Given the description of an element on the screen output the (x, y) to click on. 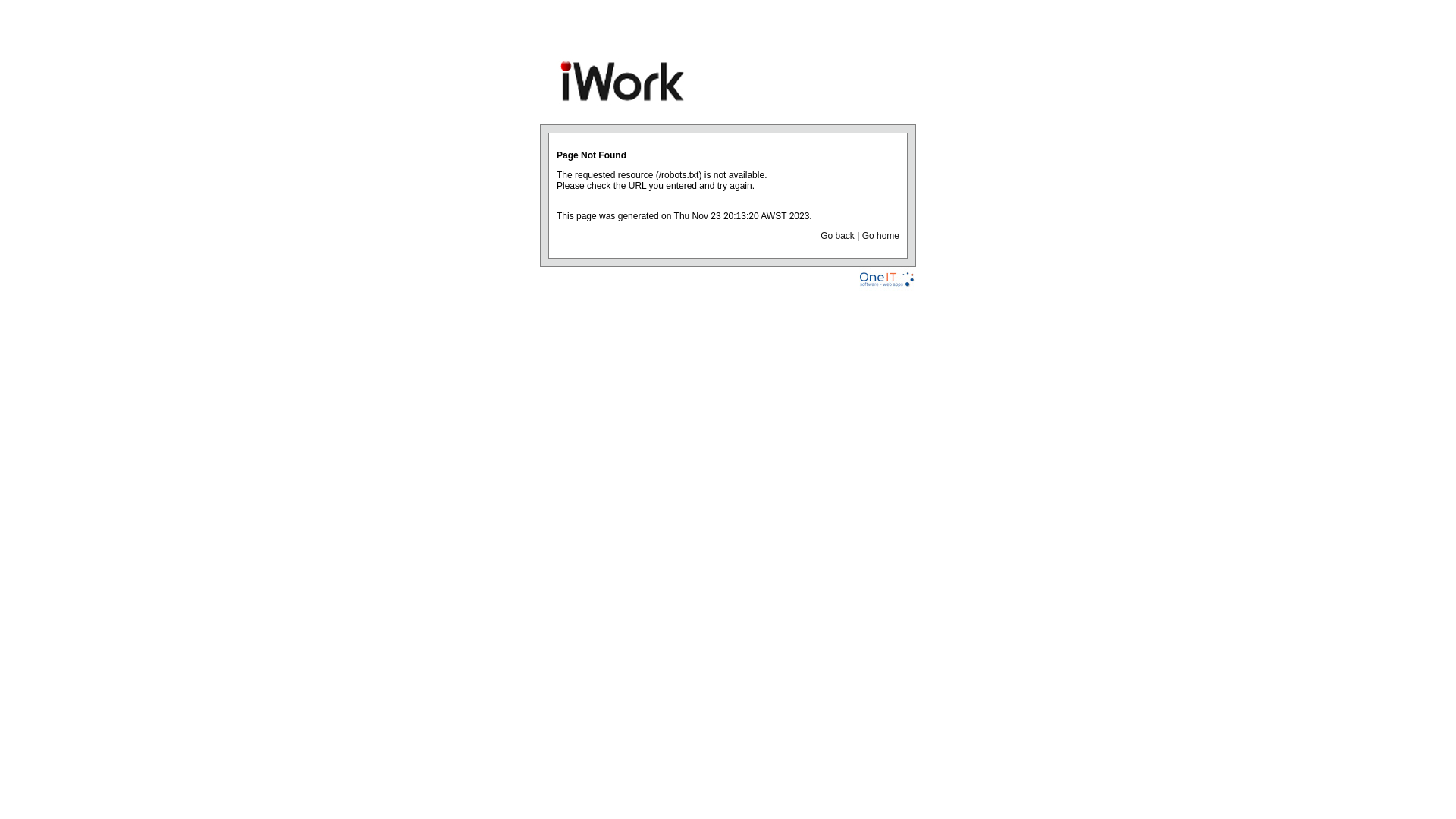
Go home Element type: text (880, 235)
Go back Element type: text (837, 235)
